Given the description of an element on the screen output the (x, y) to click on. 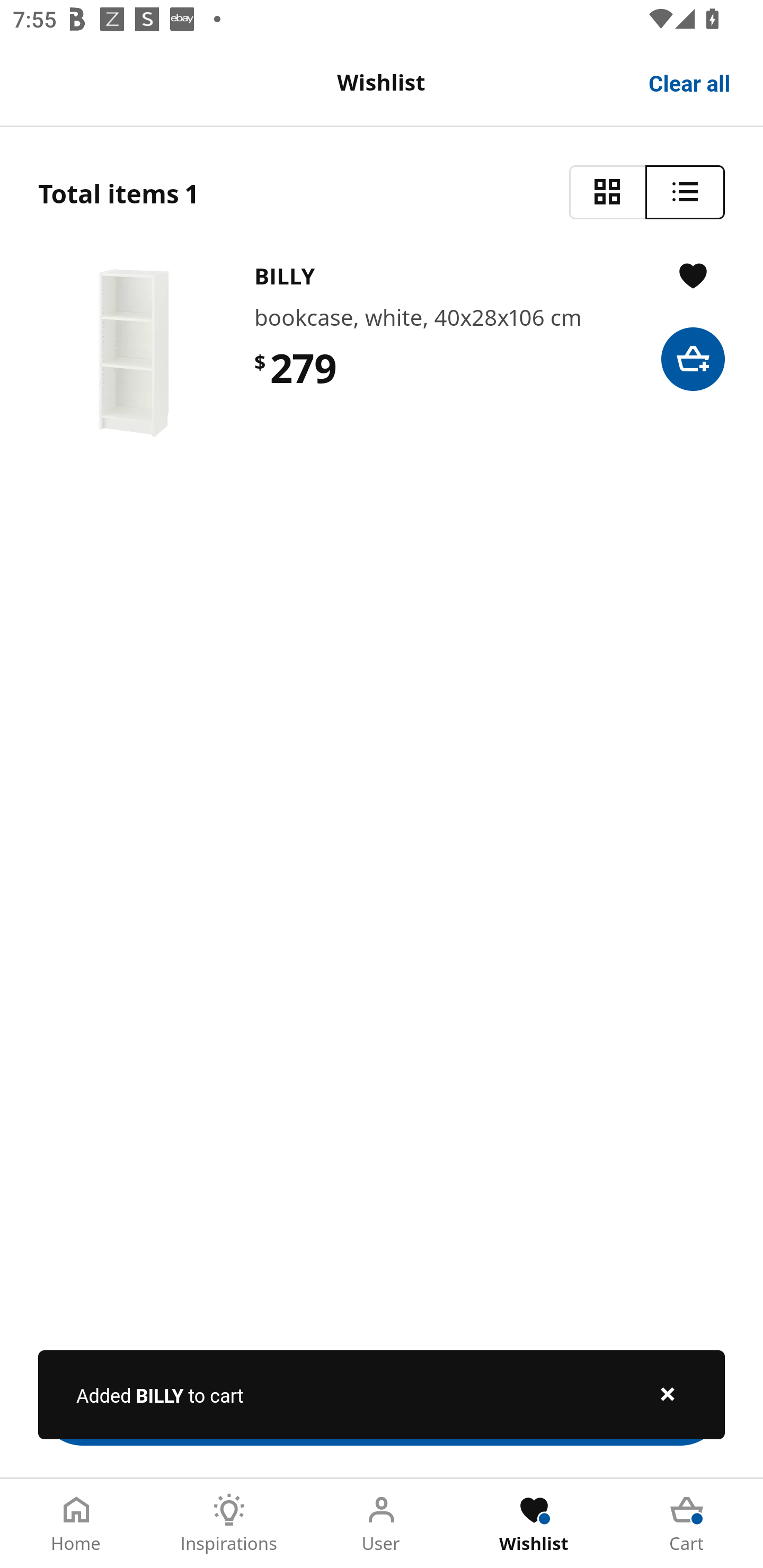
Clear all (689, 81)
​B​I​L​L​Y​
bookcase, white, 40x28x106 cm
$
279 (381, 352)
Added BILLY to cart (381, 1394)
Home
Tab 1 of 5 (76, 1522)
Inspirations
Tab 2 of 5 (228, 1522)
User
Tab 3 of 5 (381, 1522)
Wishlist
Tab 4 of 5 (533, 1522)
Cart
Tab 5 of 5 (686, 1522)
